Given the description of an element on the screen output the (x, y) to click on. 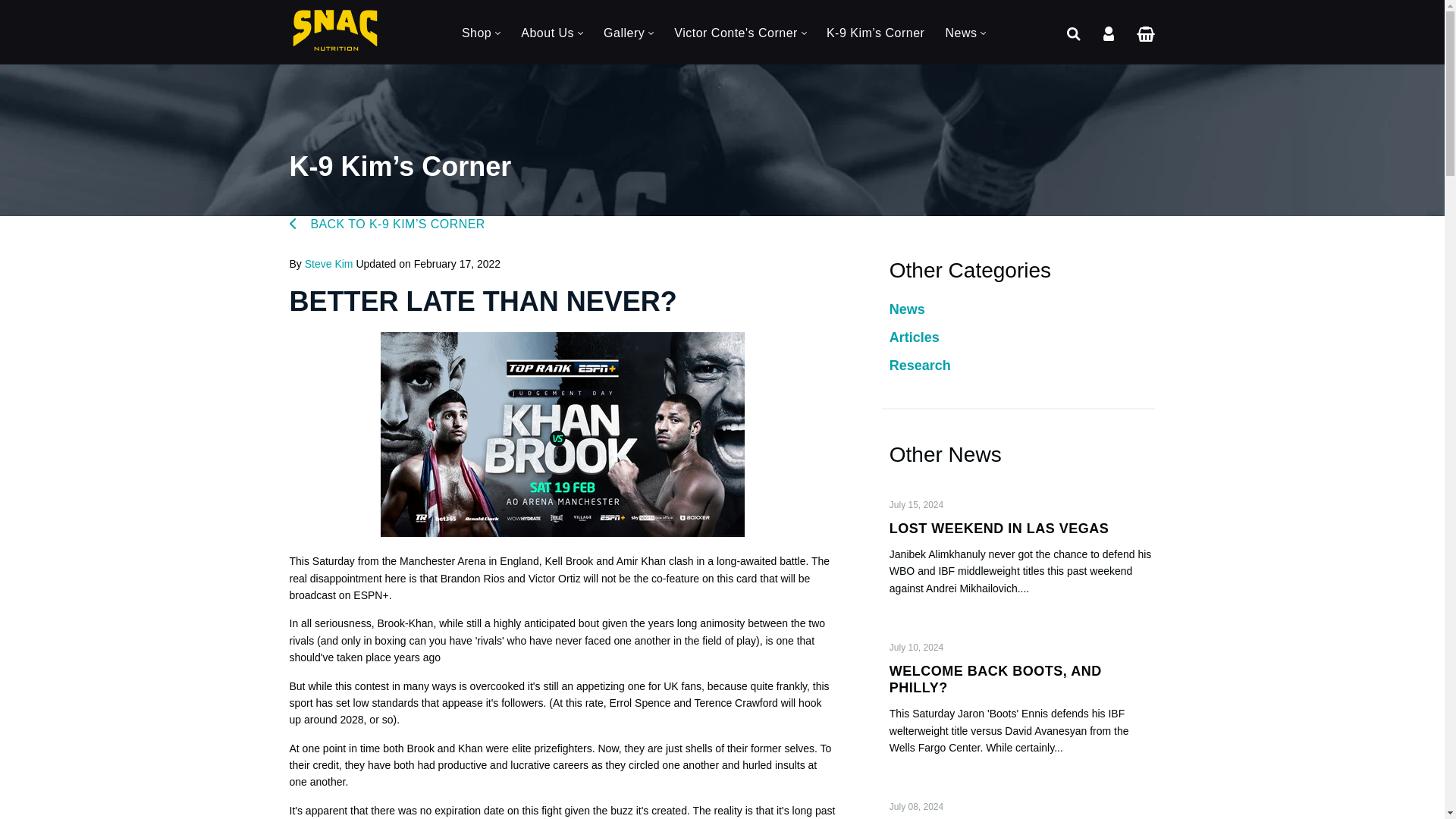
Log in (1108, 32)
